Given the description of an element on the screen output the (x, y) to click on. 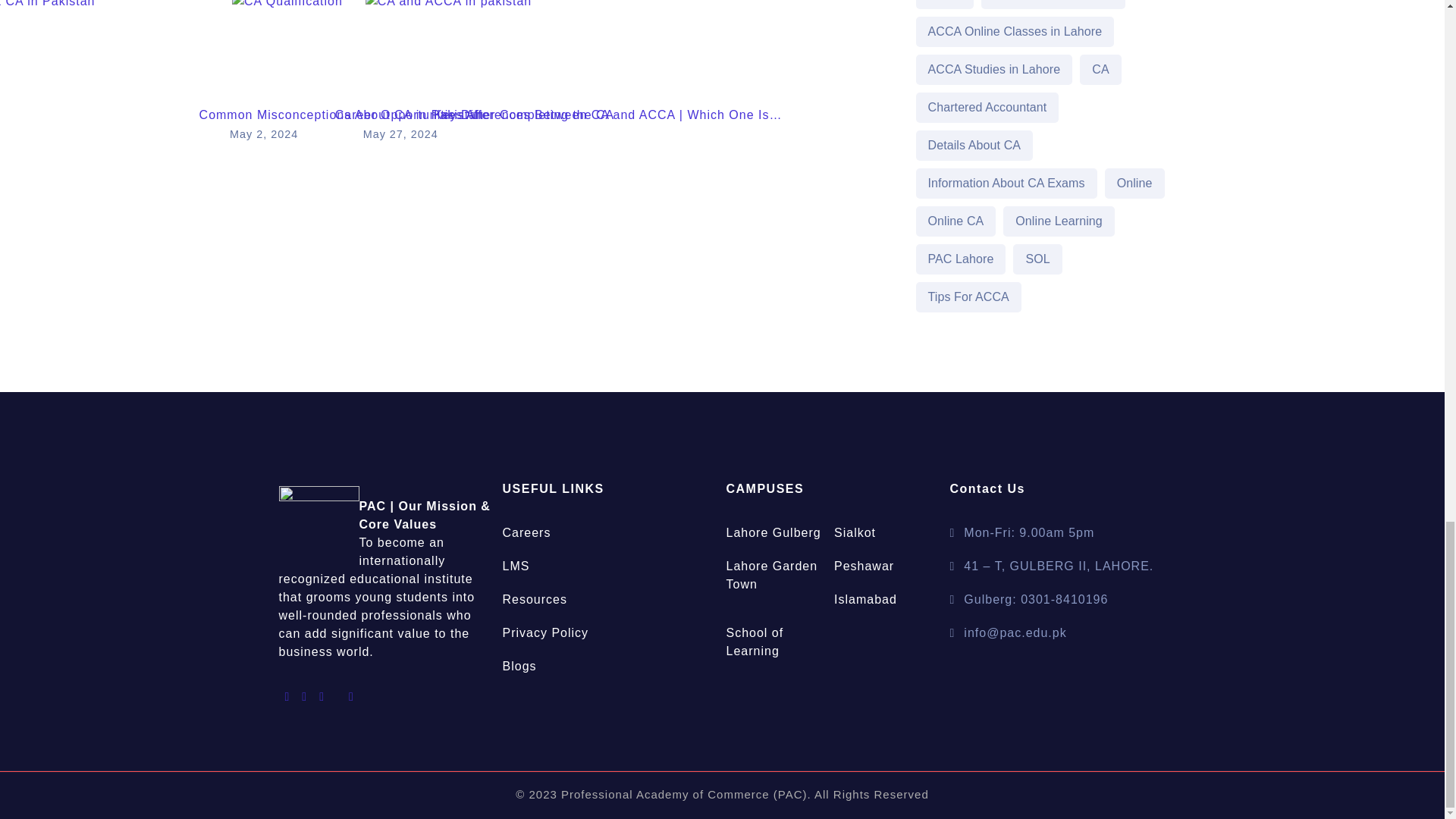
Career Opportunities After Completing the CA (474, 127)
